Given the description of an element on the screen output the (x, y) to click on. 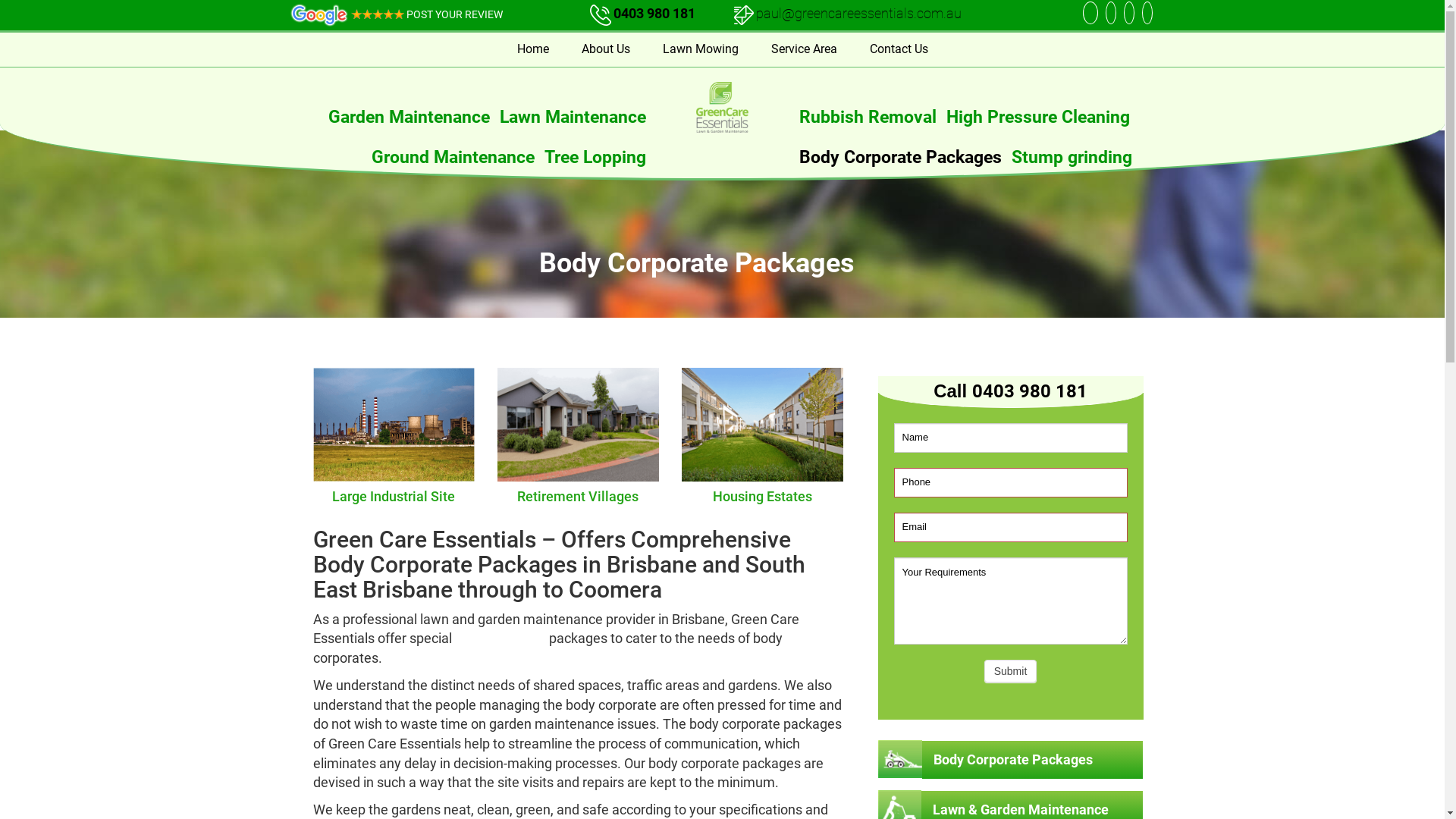
Lawn Mowing Element type: text (700, 48)
Stump grinding Element type: text (1071, 157)
Contact Us Element type: text (898, 48)
Green Care Essentials Element type: hover (722, 106)
0403 980 181 Element type: text (654, 14)
About Us Element type: text (605, 48)
Service Area Element type: text (803, 48)
Garden Maintenance Element type: text (408, 116)
Submit Element type: text (1010, 670)
paul@greencareessentials.com.au Element type: text (847, 14)
Body Corporate Packages Element type: text (900, 157)
Rubbish Removal Element type: text (867, 116)
body corporate Element type: text (500, 638)
Lawn & Garden Maintenance Element type: text (1020, 809)
Lawn Maintenance Element type: text (571, 116)
Body Corporate Packages Element type: text (1012, 759)
Home Element type: text (532, 48)
High Pressure Cleaning Element type: text (1037, 116)
Tree Lopping Element type: text (595, 157)
POST YOUR REVIEW Element type: text (395, 14)
Ground Maintenance Element type: text (452, 157)
0403 980 181 Element type: text (1029, 390)
